Given the description of an element on the screen output the (x, y) to click on. 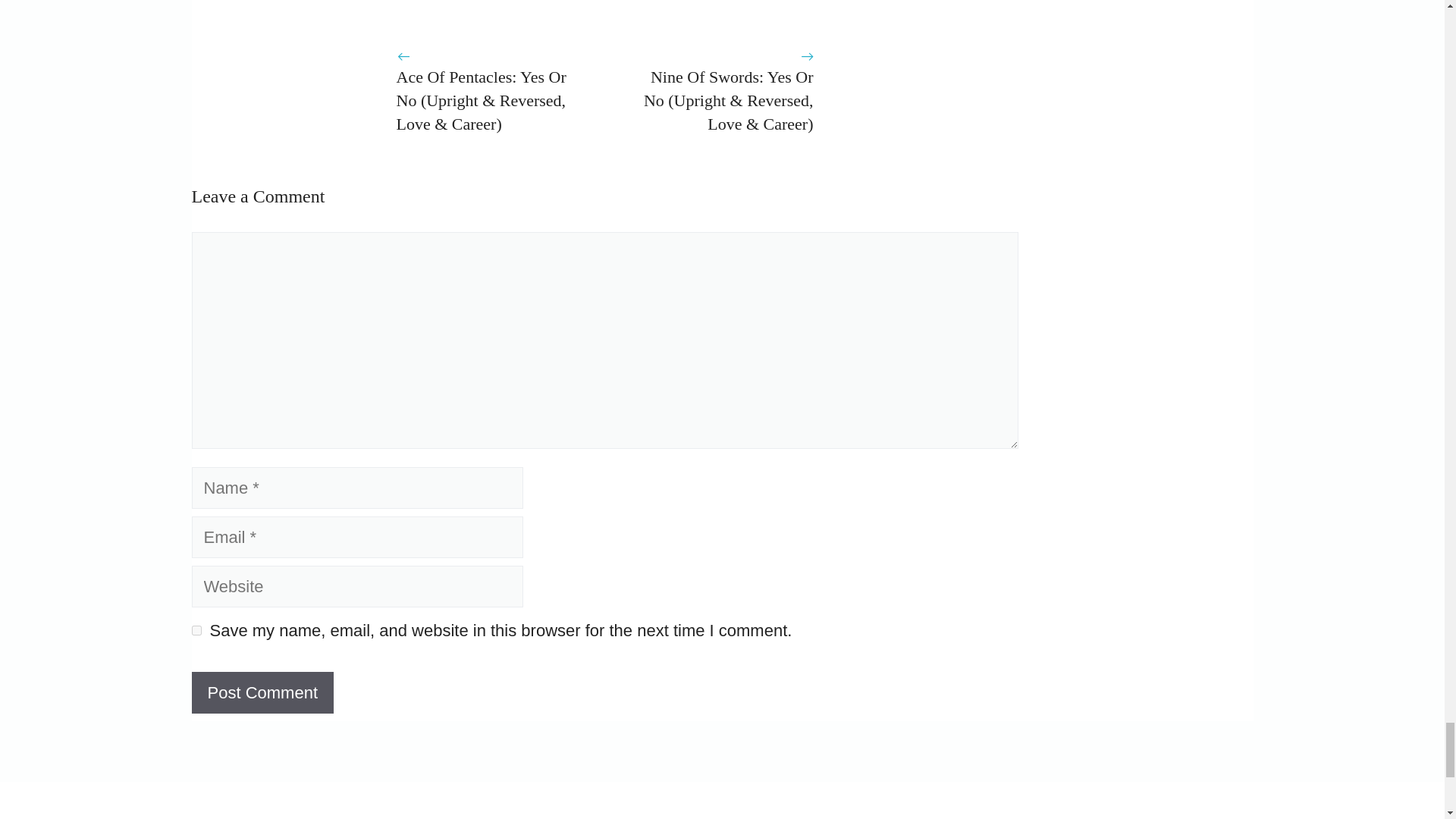
yes (195, 630)
Post Comment (261, 692)
